Given the description of an element on the screen output the (x, y) to click on. 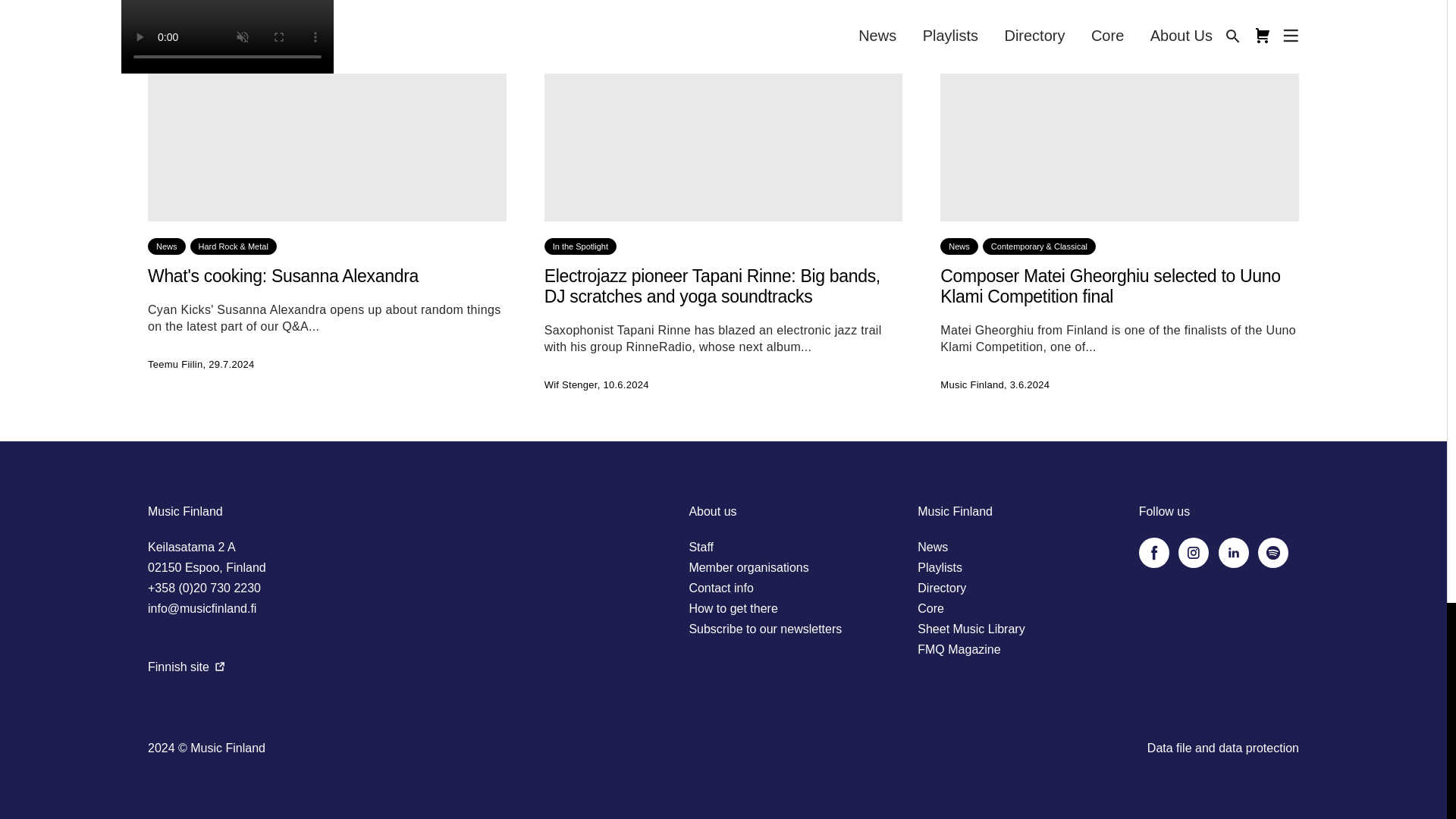
About us (712, 511)
Finnish site (186, 666)
